Given the description of an element on the screen output the (x, y) to click on. 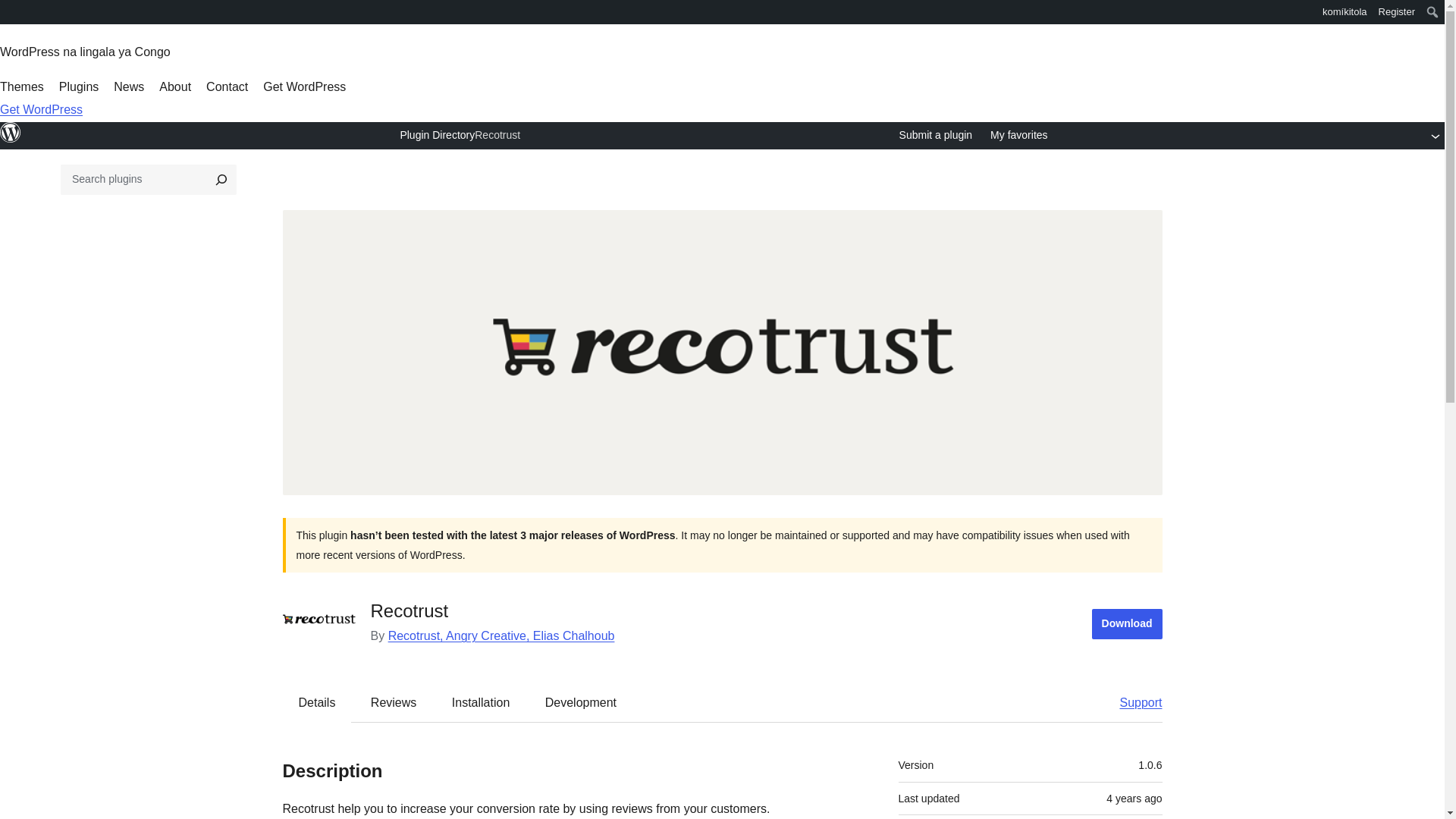
Development (580, 702)
Get WordPress (304, 87)
Support (1132, 702)
WordPress.org (10, 10)
WordPress.org (10, 16)
Recotrust (496, 135)
Plugins (79, 87)
Register (1397, 12)
Recotrust, Angry Creative, Elias Chalhoub (501, 635)
News (128, 87)
Contact (226, 87)
WordPress.org (10, 132)
Get WordPress (41, 109)
Reviews (392, 702)
Plugin Directory (436, 134)
